Given the description of an element on the screen output the (x, y) to click on. 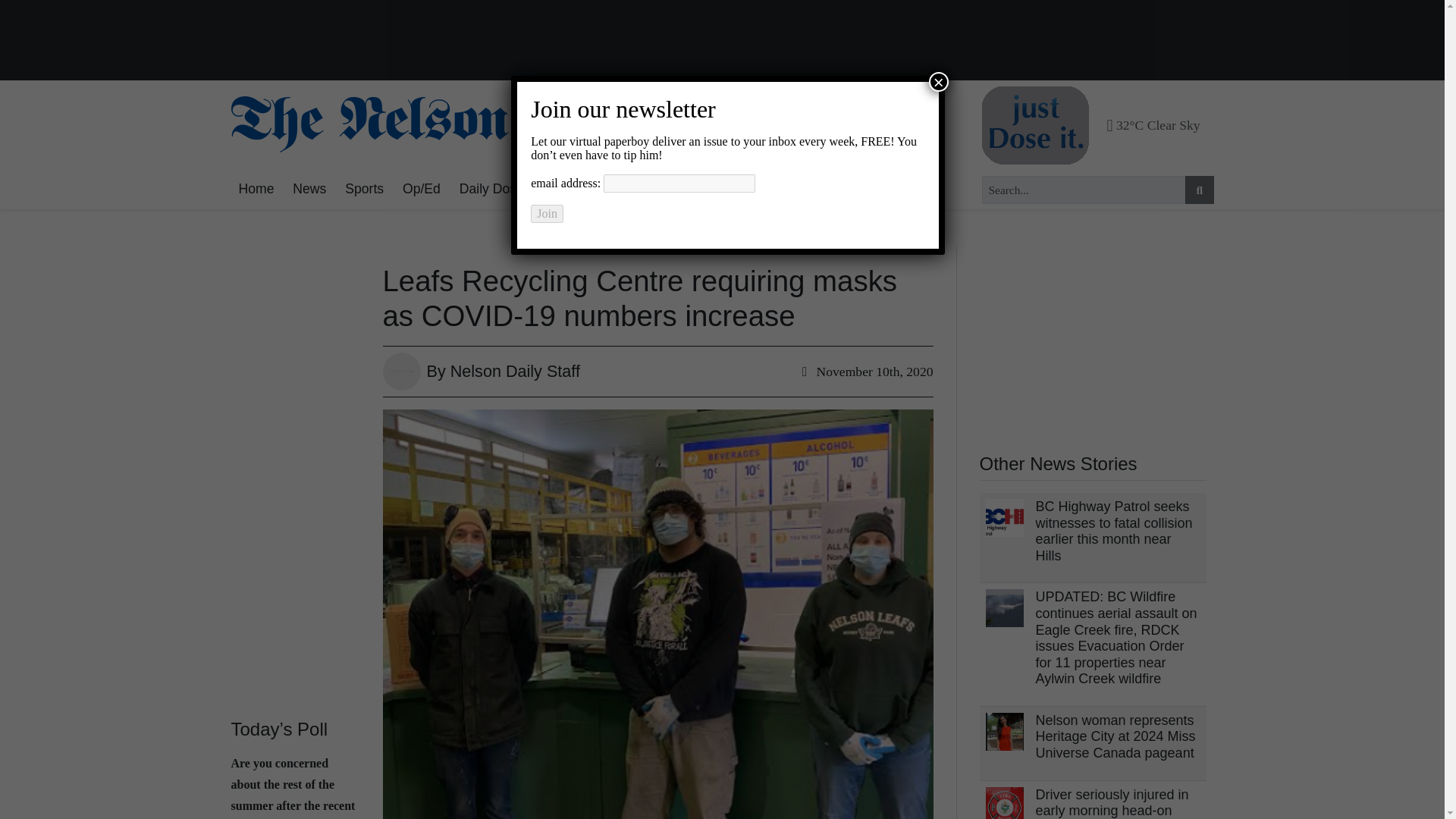
3rd party ad content (1093, 339)
Join (547, 213)
Home (255, 189)
Daily Dose (491, 189)
Obits (806, 189)
News (309, 189)
Business (684, 189)
Arts and Culture (590, 189)
Events (750, 189)
3rd party ad content (721, 41)
Sports (364, 189)
